Given the description of an element on the screen output the (x, y) to click on. 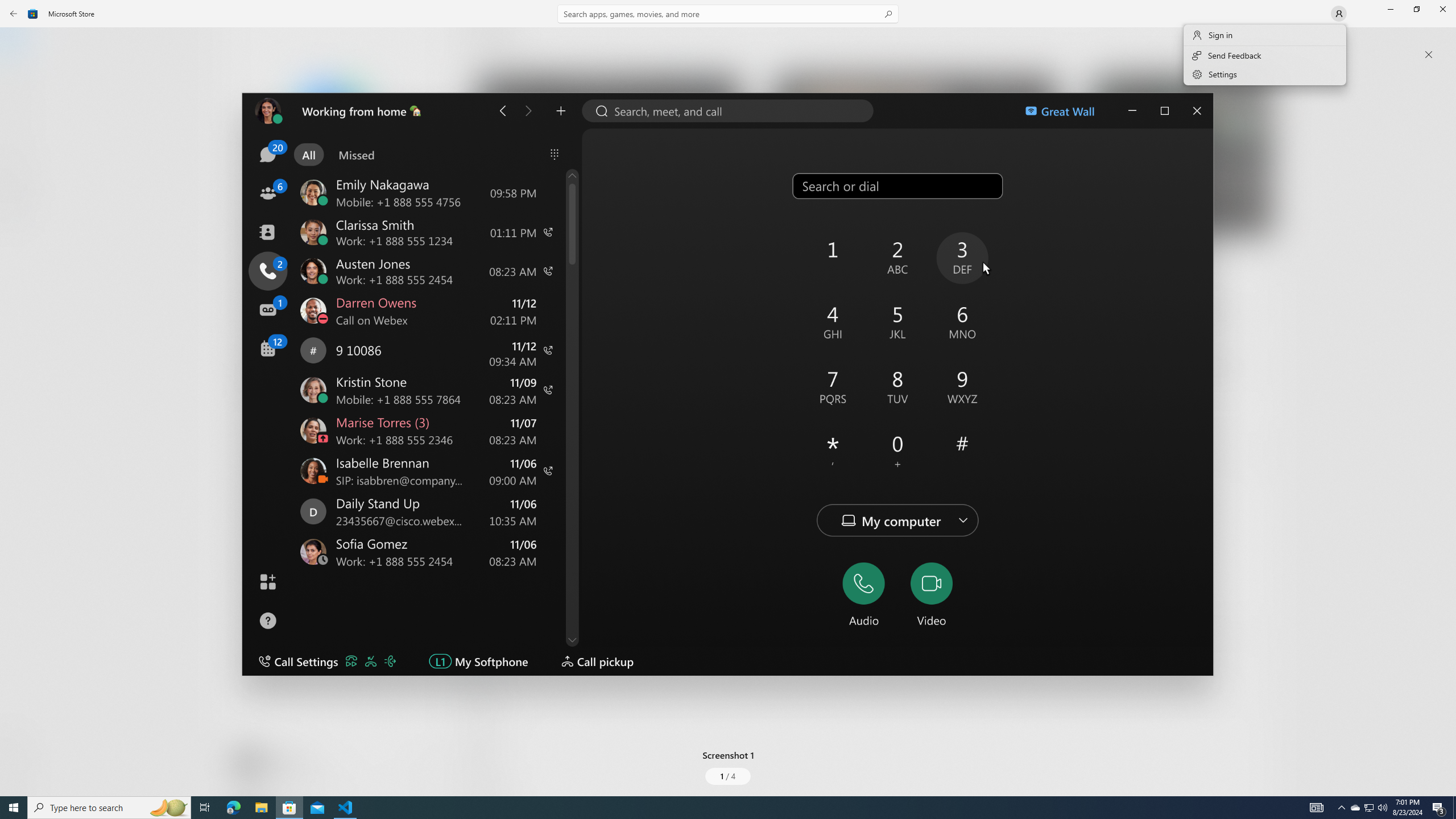
Screenshot 2 (915, 158)
Back (13, 13)
